Given the description of an element on the screen output the (x, y) to click on. 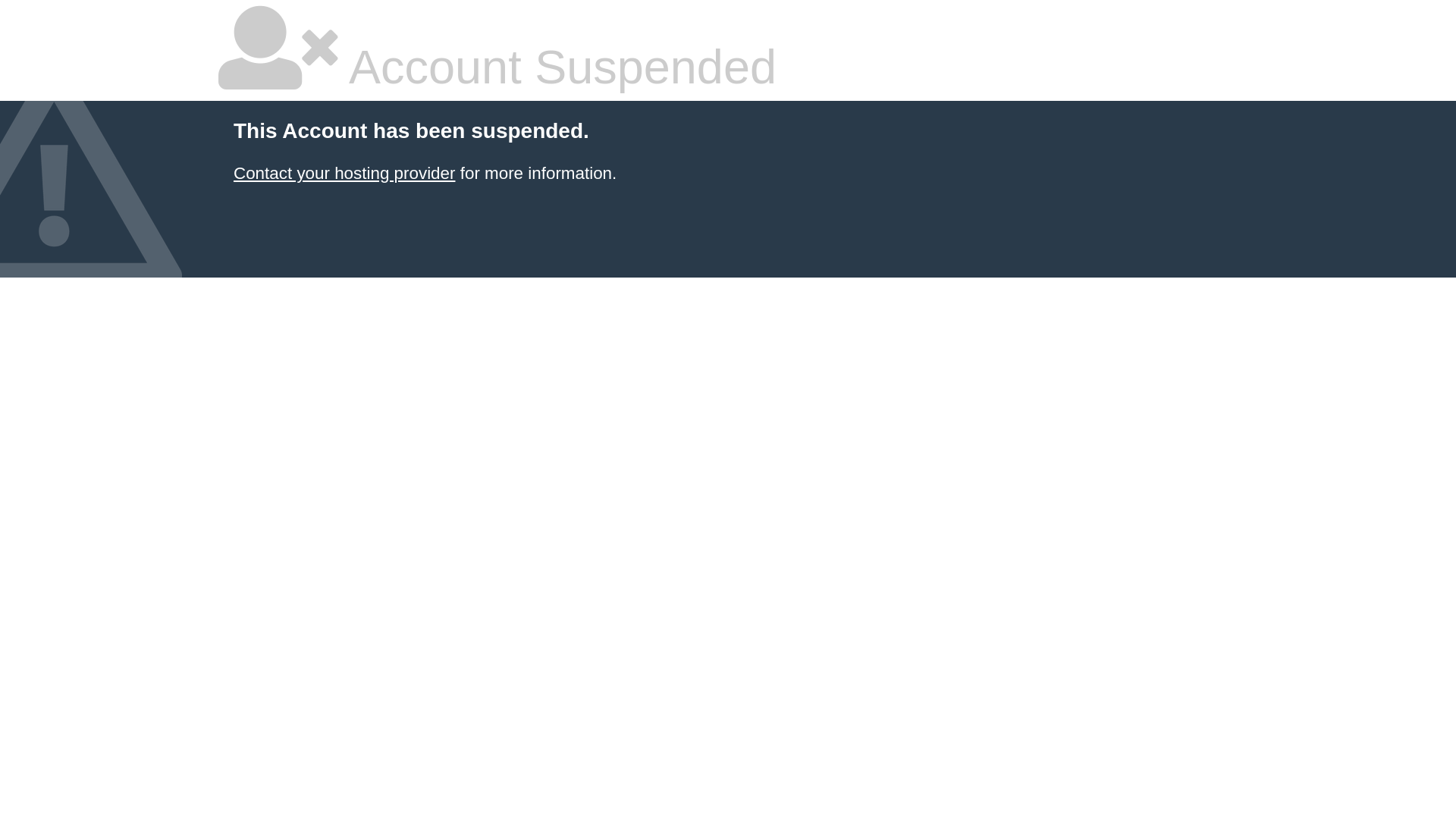
Contact your hosting provider Element type: text (344, 172)
